Given the description of an element on the screen output the (x, y) to click on. 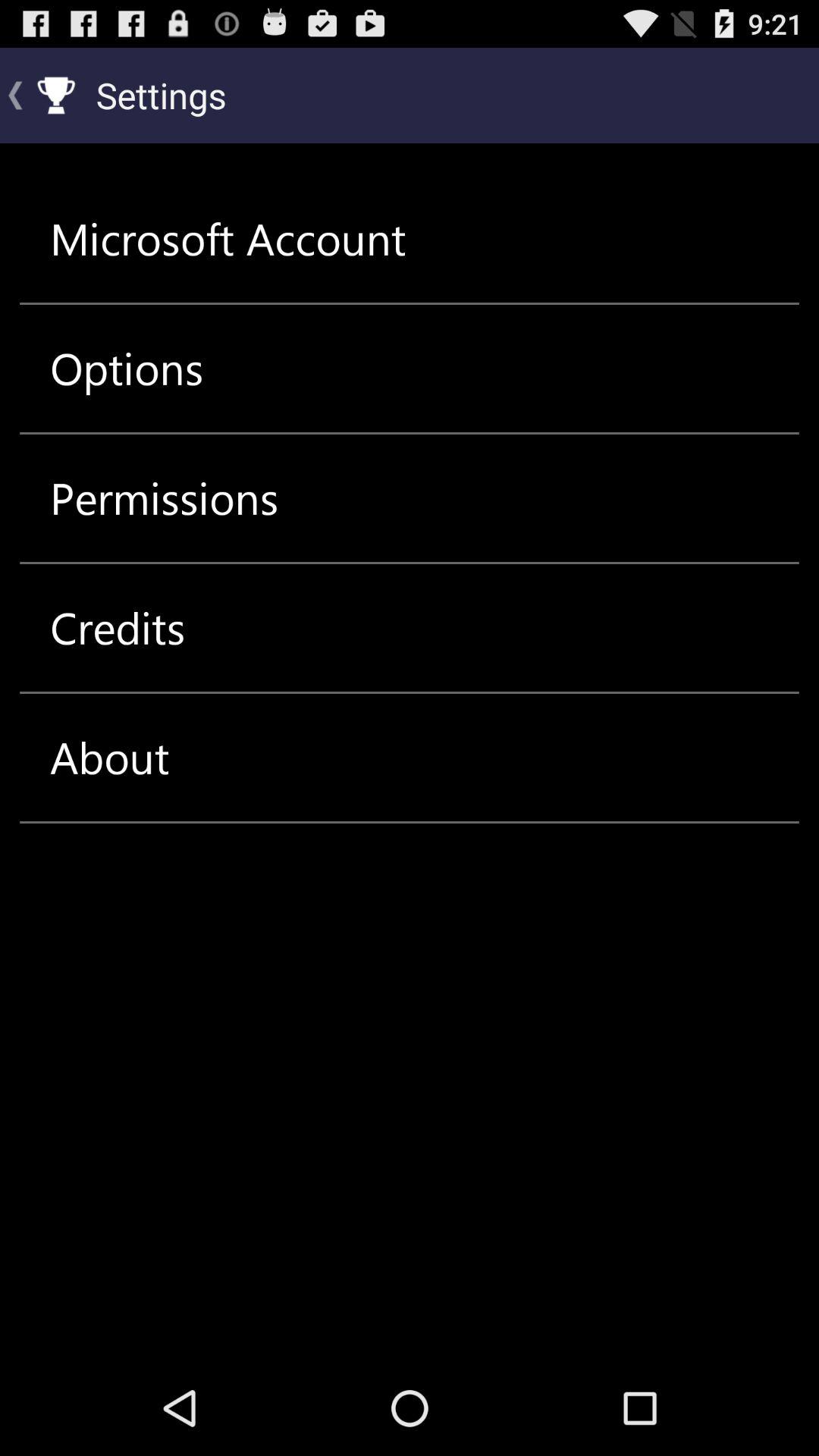
press microsoft account icon (228, 238)
